Given the description of an element on the screen output the (x, y) to click on. 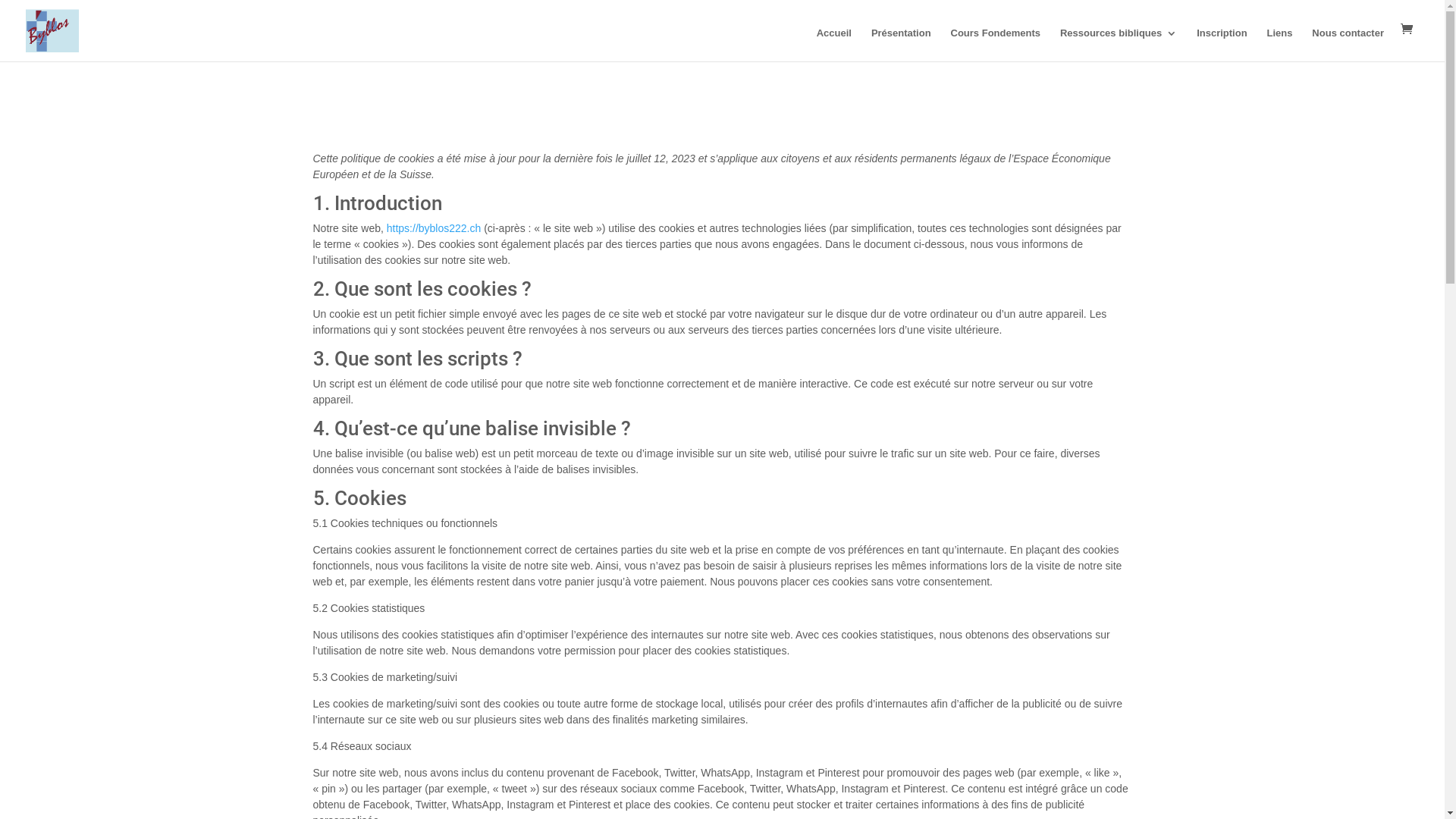
https://byblos222.ch Element type: text (433, 228)
Accueil Element type: text (833, 44)
Inscription Element type: text (1221, 44)
Ressources bibliques Element type: text (1118, 44)
Cours Fondements Element type: text (995, 44)
Liens Element type: text (1279, 44)
Nous contacter Element type: text (1347, 44)
